Given the description of an element on the screen output the (x, y) to click on. 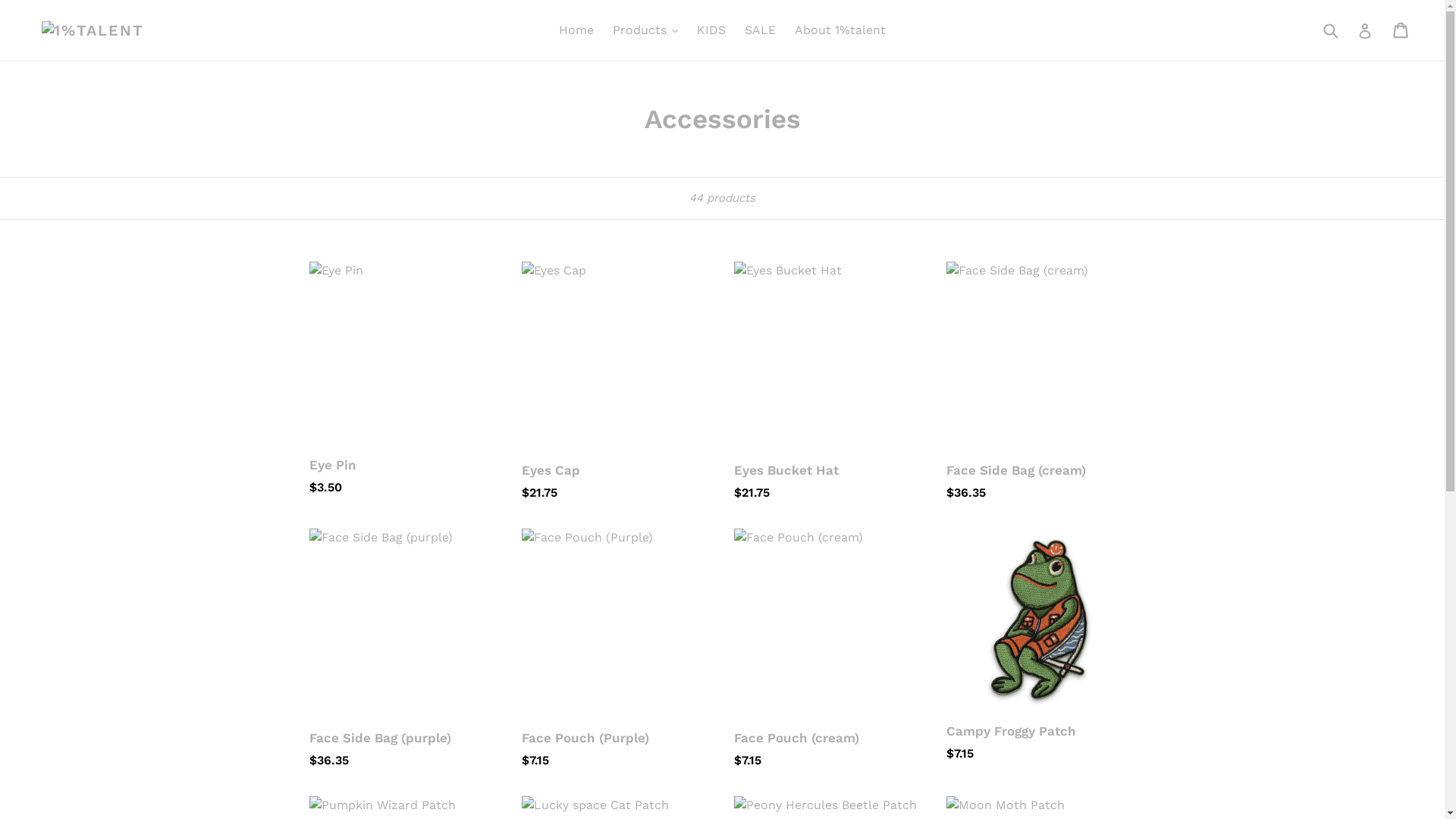
Face Pouch (Purple)
$7.15 Element type: text (616, 648)
Submit Element type: text (1329, 29)
Eye Pin
$3.50 Element type: text (403, 378)
Log in Element type: text (1364, 30)
Campy Froggy Patch
$7.15 Element type: text (1040, 645)
Eyes Bucket Hat
$21.75 Element type: text (828, 381)
Face Pouch (cream)
$7.15 Element type: text (828, 648)
Cart
Cart Element type: text (1401, 29)
Home Element type: text (576, 29)
SALE Element type: text (760, 29)
KIDS Element type: text (711, 29)
Face Side Bag (purple)
$36.35 Element type: text (403, 648)
Eyes Cap
$21.75 Element type: text (616, 381)
About 1%talent Element type: text (840, 29)
Face Side Bag (cream)
$36.35 Element type: text (1040, 381)
